Given the description of an element on the screen output the (x, y) to click on. 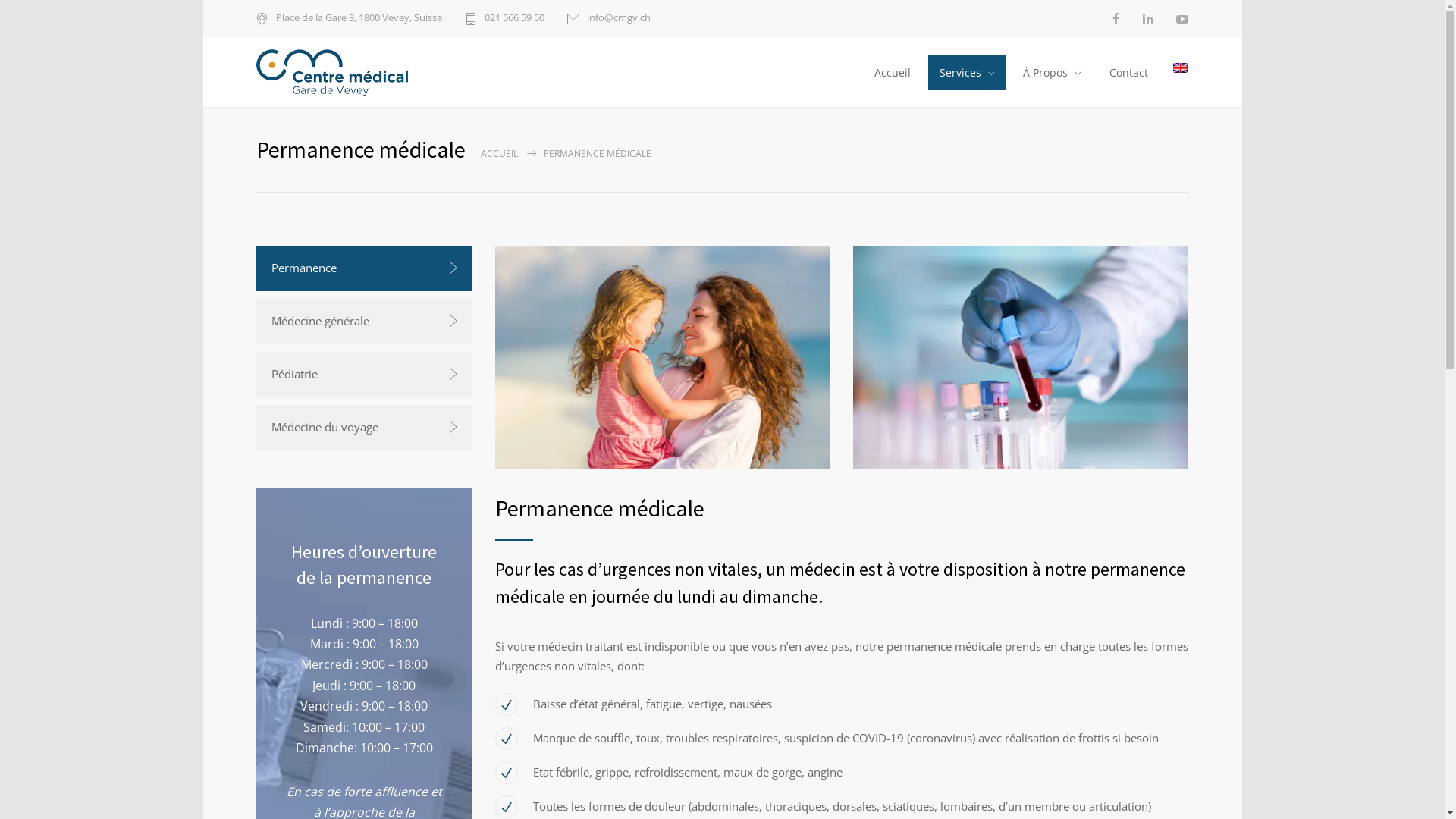
Accueil Element type: text (891, 72)
Contact Element type: text (1128, 72)
info@cmgv.ch Element type: text (608, 18)
ACCUEIL Element type: text (498, 153)
Permanence Element type: text (364, 268)
021 566 59 50 Element type: text (503, 18)
Services Element type: text (966, 72)
